Given the description of an element on the screen output the (x, y) to click on. 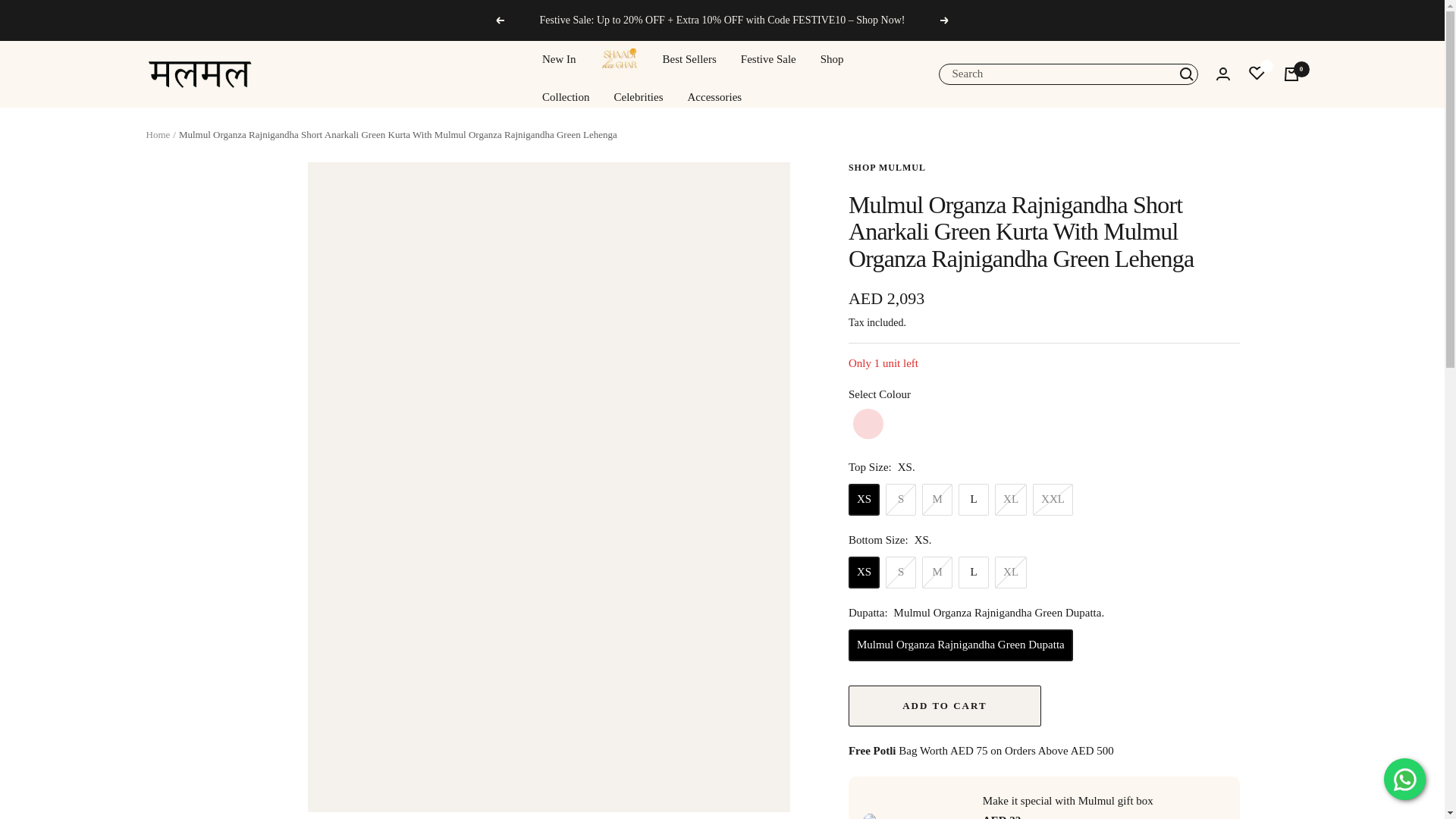
Shop (832, 59)
shopmulmulUAE (198, 74)
Next (944, 20)
Accessories (714, 97)
Celebrities (638, 97)
